Given the description of an element on the screen output the (x, y) to click on. 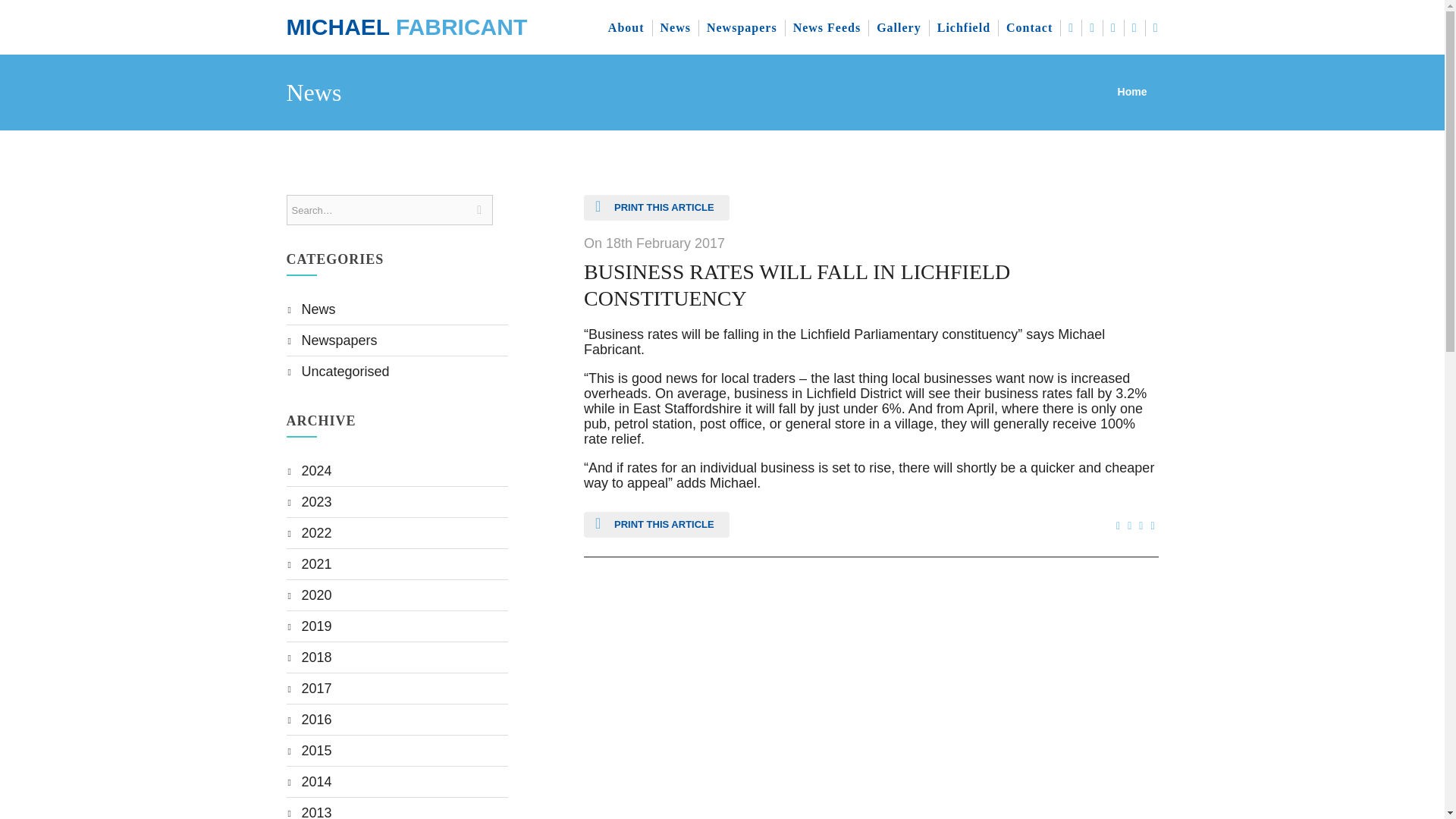
Newspapers (742, 27)
Newspapers (339, 340)
Home (1132, 91)
News (318, 309)
Print this article (656, 207)
Gallery (899, 27)
Contact (1029, 27)
News Feeds (827, 27)
MICHAEL FABRICANT (406, 27)
News (675, 27)
Print this article (656, 524)
Uncategorised (345, 371)
Lichfield (964, 27)
About (625, 27)
